Given the description of an element on the screen output the (x, y) to click on. 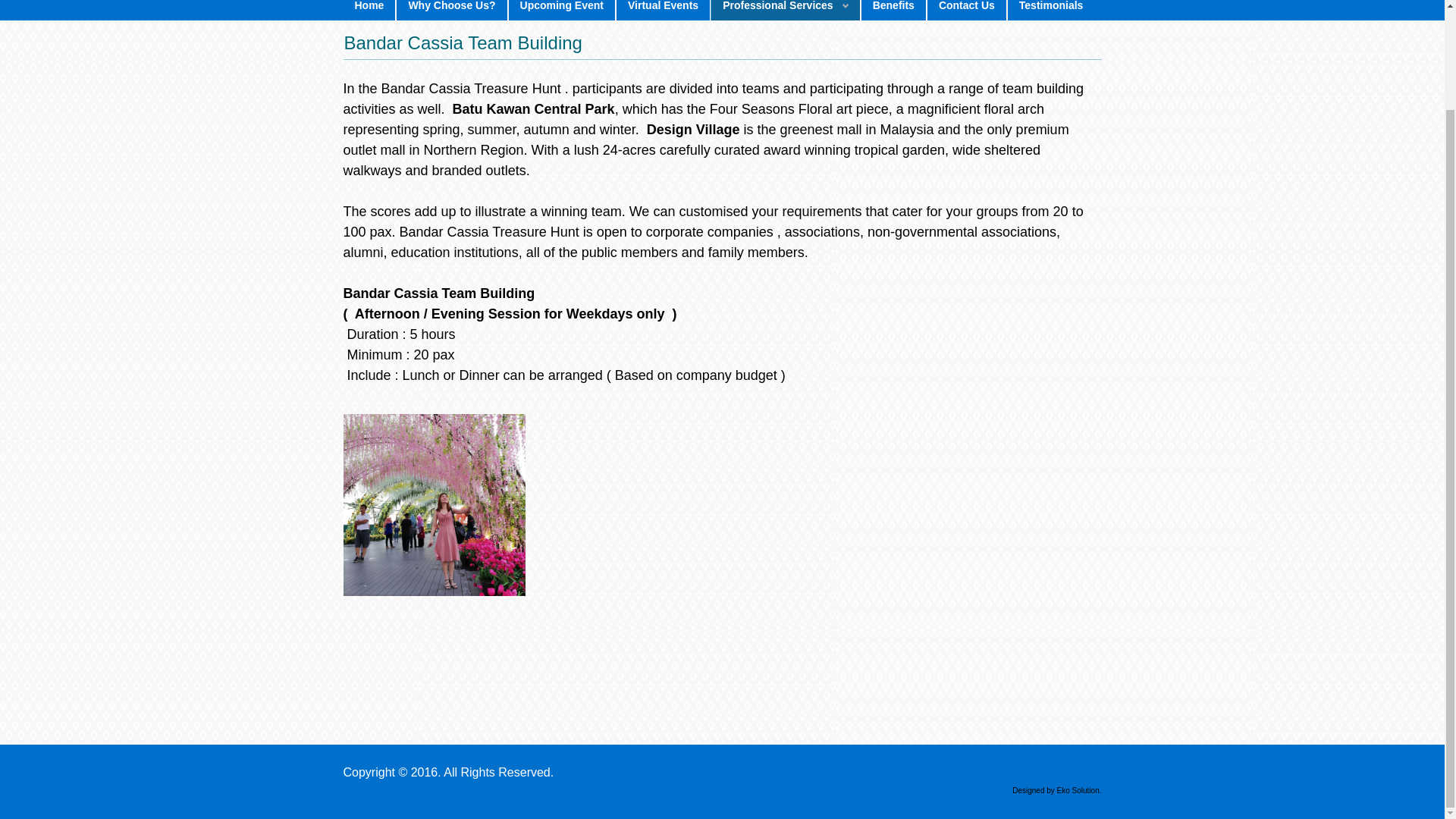
Why Choose Us? (451, 10)
Home (369, 10)
Upcoming Event (561, 10)
